Given the description of an element on the screen output the (x, y) to click on. 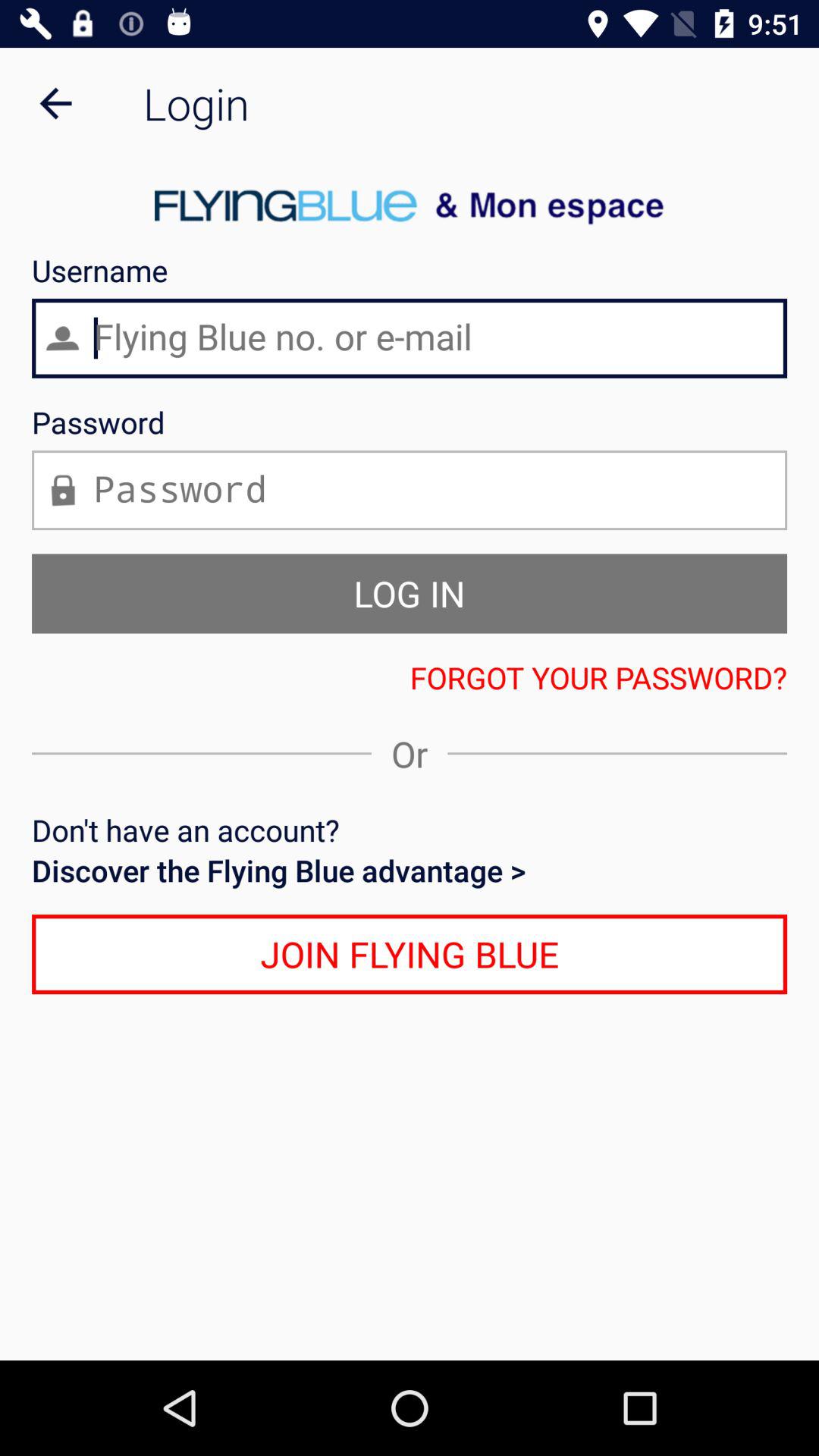
tap the item above the username icon (55, 103)
